Given the description of an element on the screen output the (x, y) to click on. 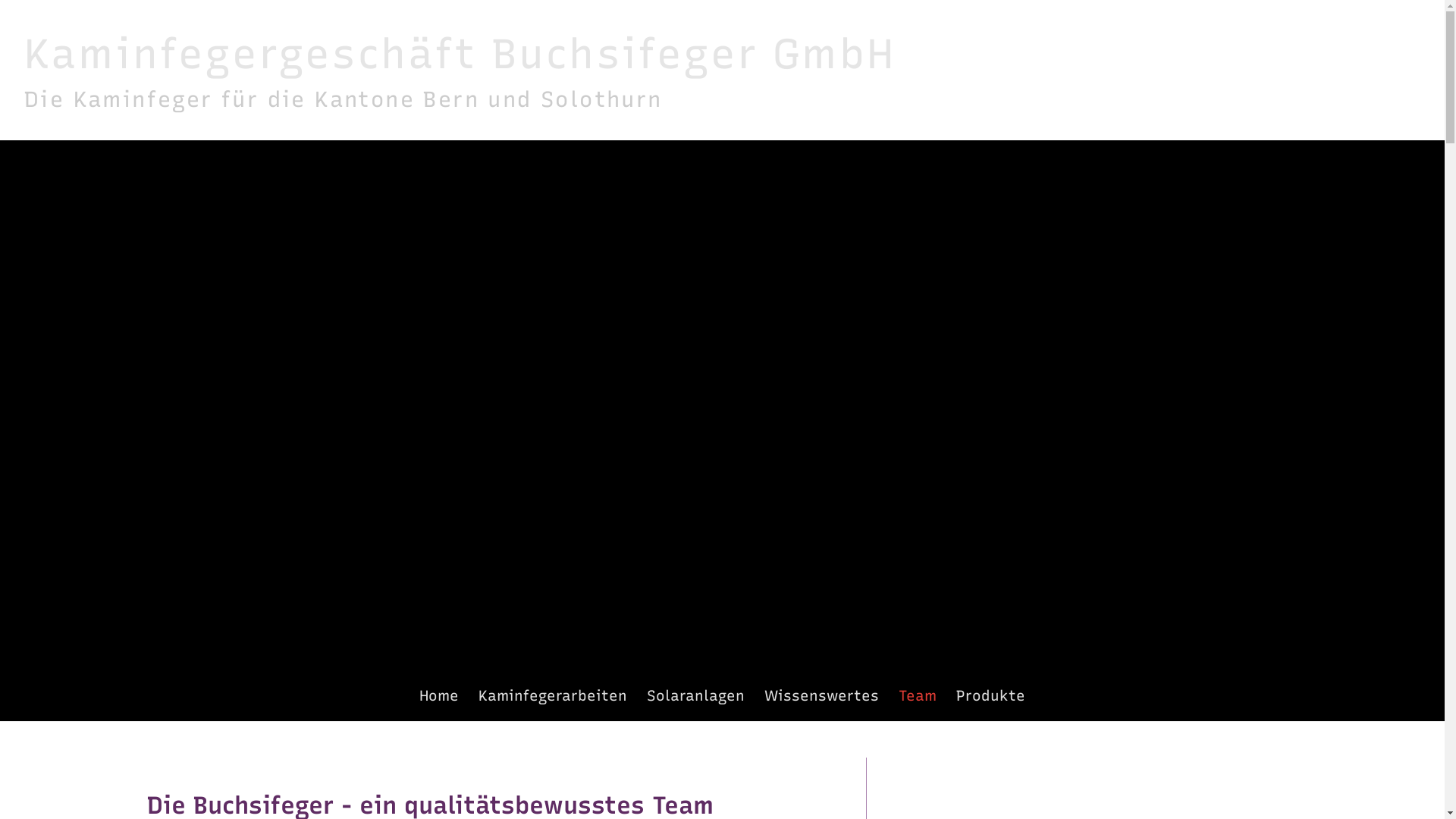
Kaminfegerarbeiten Element type: text (552, 695)
Team Element type: text (917, 695)
Wissenswertes Element type: text (821, 695)
Home Element type: text (438, 695)
Solaranlagen Element type: text (695, 695)
Produkte Element type: text (990, 695)
